Given the description of an element on the screen output the (x, y) to click on. 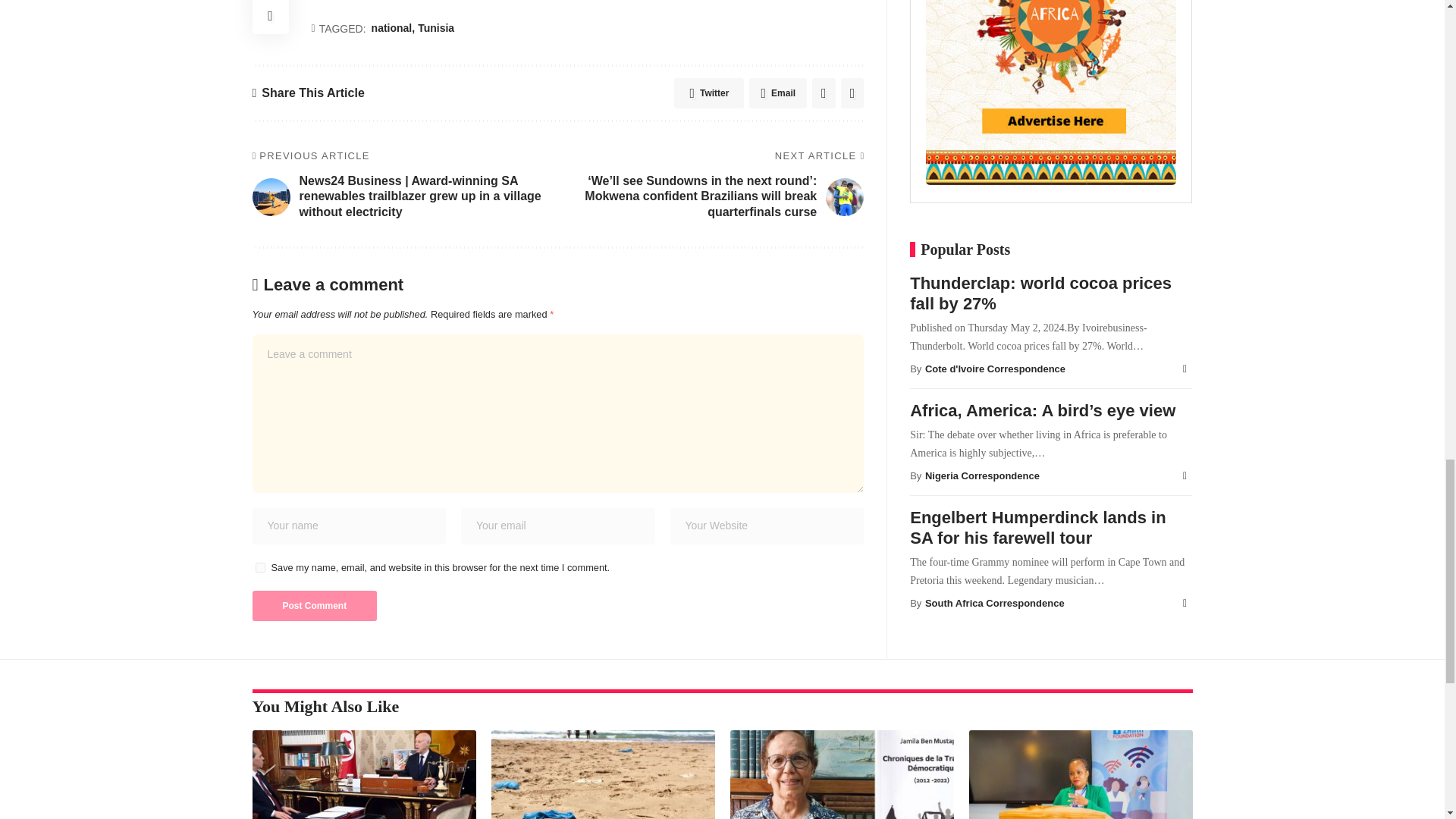
Tourists complain about dirt in Tunisia (603, 774)
Post Comment (314, 605)
Campaign against Internet shutdowns (1080, 774)
yes (259, 567)
Just published: Jamila Ben Mustapha, historian of the moment (841, 774)
